Given the description of an element on the screen output the (x, y) to click on. 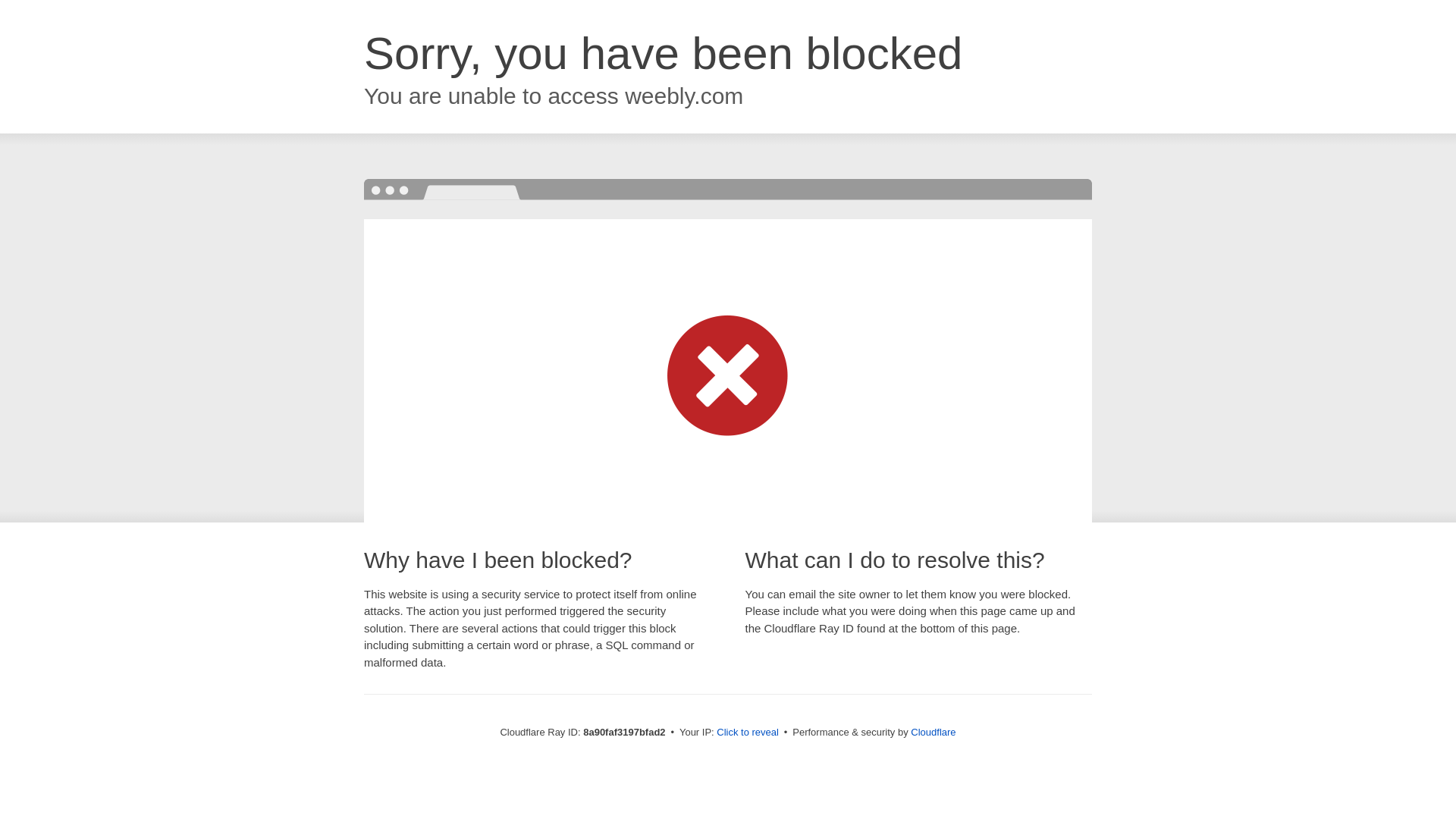
Click to reveal (747, 732)
Cloudflare (933, 731)
